Given the description of an element on the screen output the (x, y) to click on. 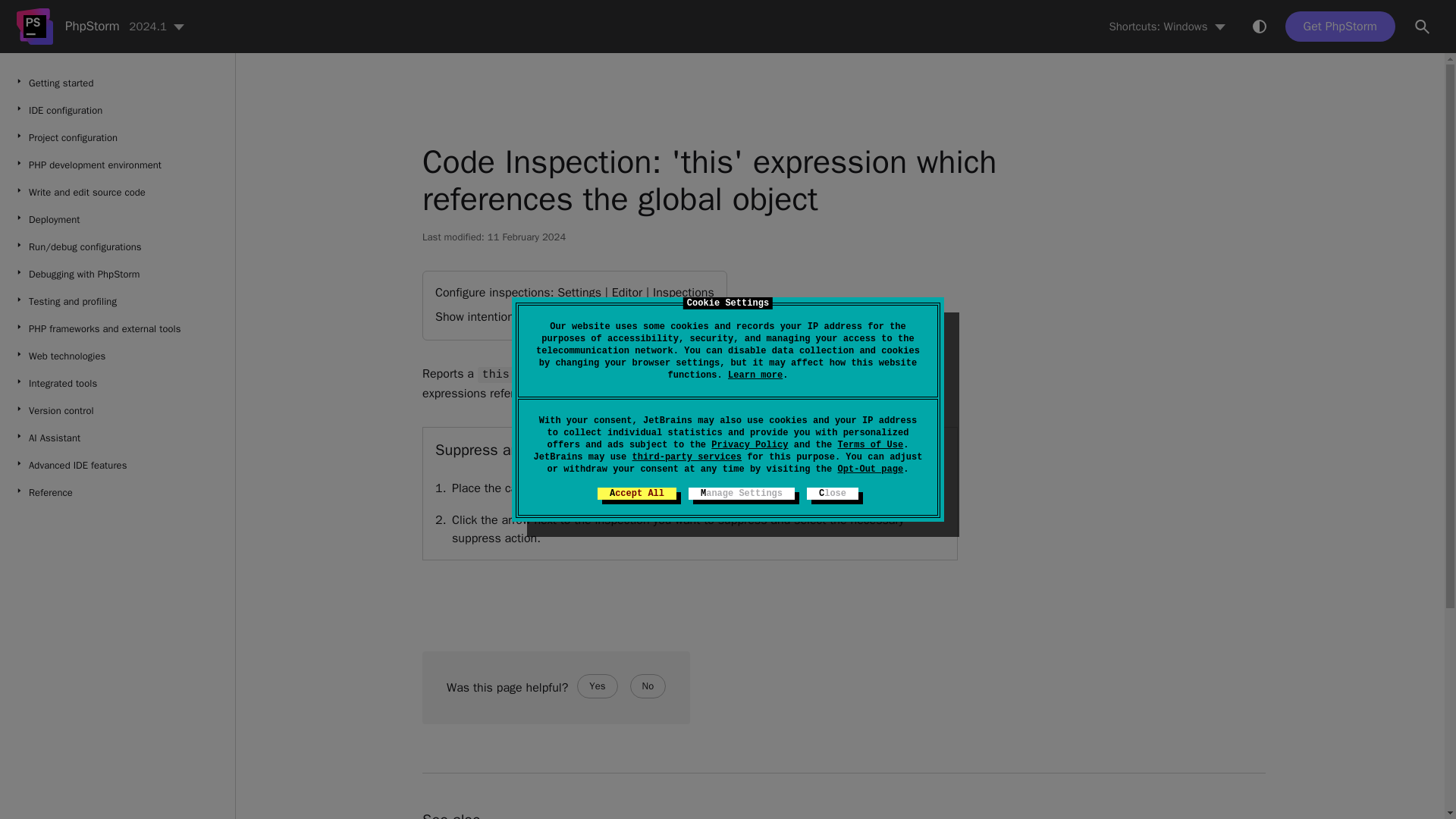
Web technologies (117, 356)
Debugging with PhpStorm (117, 274)
Deployment (117, 219)
IDE configuration (117, 110)
Privacy Policy (749, 444)
Getting started (117, 83)
Opt-Out page (869, 469)
Yes (596, 686)
third-party services (686, 457)
Terms of Use (869, 444)
Version control (648, 686)
the Intention action icon (117, 411)
Get PhpStorm (812, 489)
